Given the description of an element on the screen output the (x, y) to click on. 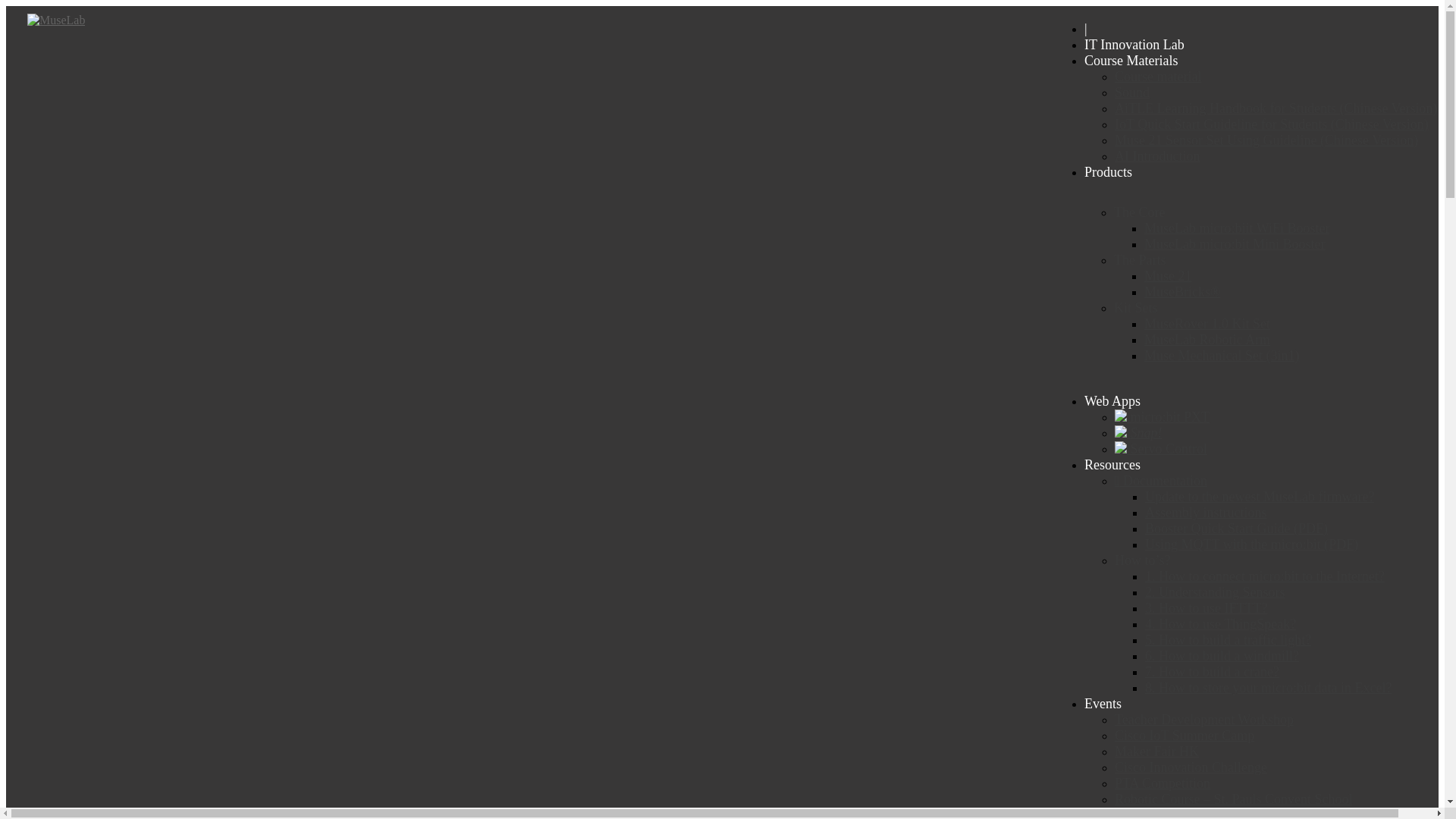
5. How to build a traffic light? Element type: text (1228, 639)
8. How to store your micro:bit data in Excel? Element type: text (1268, 687)
Snap! Element type: text (1138, 432)
Booster Quick Start Guide (PDF) Element type: text (1236, 528)
Documentation Element type: text (1160, 480)
Maker Fair HK Element type: text (1156, 751)
Web Apps Element type: text (1112, 400)
Muse 21 Sensor Set Using Guideline (Chinese Version) Element type: text (1266, 139)
Servo Control Element type: text (1160, 448)
Course material Element type: text (1157, 76)
Course Materials Element type: text (1130, 60)
7. How to build a crane? Element type: text (1212, 671)
| Element type: text (1085, 28)
Resources Element type: text (1112, 464)
AI Introduction Element type: text (1156, 155)
2. Understanding Sensors Element type: text (1214, 591)
MuseLab micro:bit Mini Booster Element type: text (1234, 243)
Assembly instructions Element type: text (1206, 512)
IoT Quick Start Guideline for Students (Chinese Version) Element type: text (1271, 123)
Events Element type: text (1102, 703)
Sound Element type: text (1131, 92)
4. How to use ThingSpeak? Element type: text (1220, 623)
1. How to connect micro:bit to the Internet? Element type: text (1264, 575)
Teacher Development Workshop Element type: text (1203, 719)
Using MQTT with the micro:bit (PDF) Element type: text (1251, 544)
Muse 21 Element type: text (1168, 275)
MuseLab Robotic Arm Element type: text (1207, 339)
The Core Element type: text (1138, 211)
IT Innovation Lab Element type: text (1134, 44)
MuseLab Element type: hover (55, 19)
AiTLE Learning Handbook for Students (Chinese Version) Element type: text (1275, 108)
micro:bit PXT Element type: text (1161, 416)
The Parts Element type: text (1139, 259)
6. How to build a windmill? Element type: text (1222, 655)
Cisco IoT Summer Camp Element type: text (1184, 735)
Products Element type: text (1108, 171)
MuseLab Element type: hover (55, 20)
Update to the newest MuseLab firmware? Element type: text (1259, 496)
MuseRover 1.0 Kit Set Element type: text (1207, 323)
PTA Competition Element type: text (1162, 782)
Cisco Innovation Challenge Element type: text (1190, 767)
Muse Mechanical Set (3in1) Element type: text (1221, 355)
MuseLab micro:biit WiFi Booster Element type: text (1236, 227)
3. How to use IFTTT? Element type: text (1206, 607)
Kit Sets Element type: text (1135, 307)
